Given the description of an element on the screen output the (x, y) to click on. 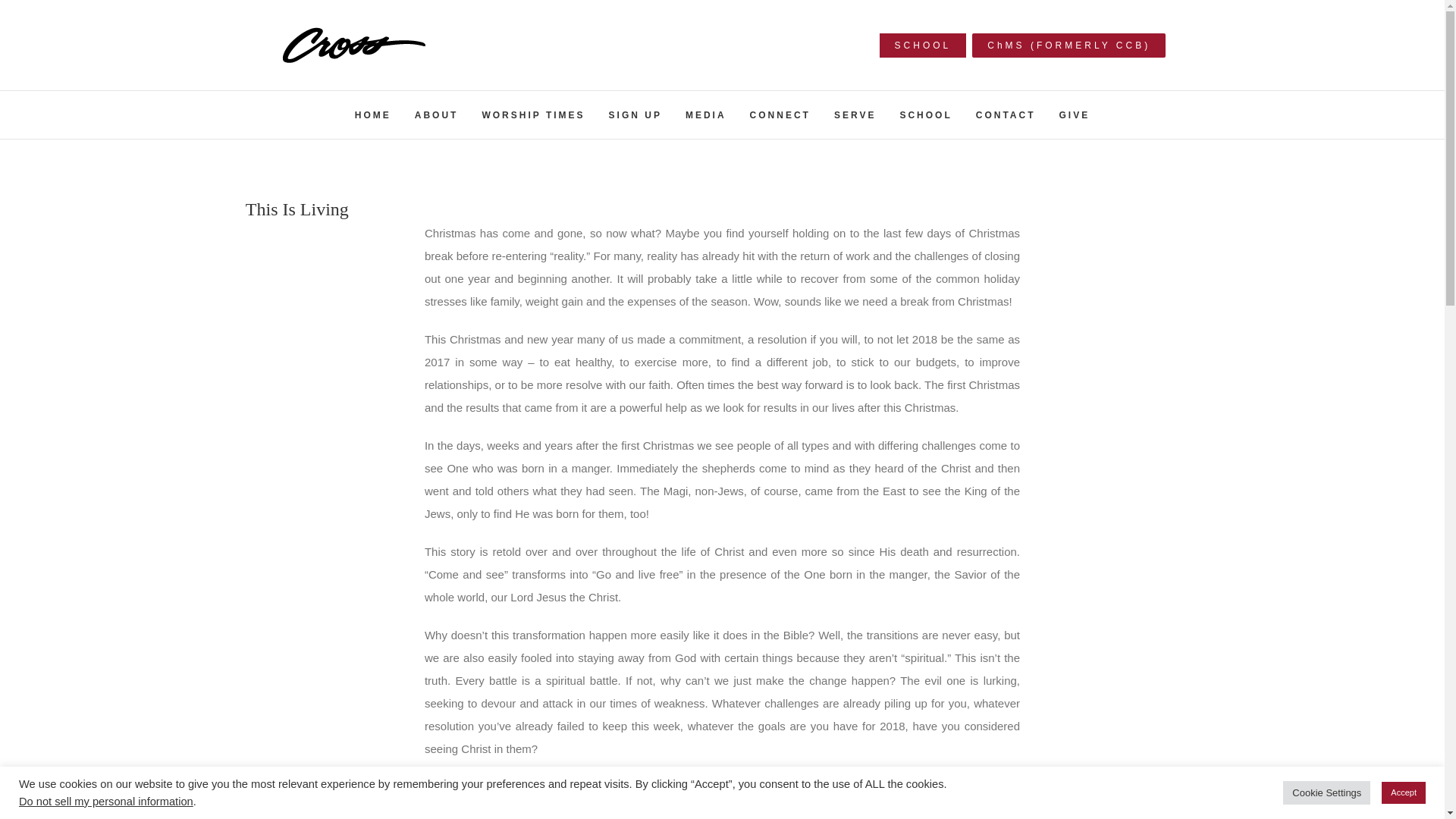
WORSHIP TIMES (533, 114)
ABOUT (436, 114)
MEDIA (705, 114)
SCHOOL (923, 44)
CONNECT (779, 114)
HOME (373, 114)
SIGN UP (635, 114)
